Given the description of an element on the screen output the (x, y) to click on. 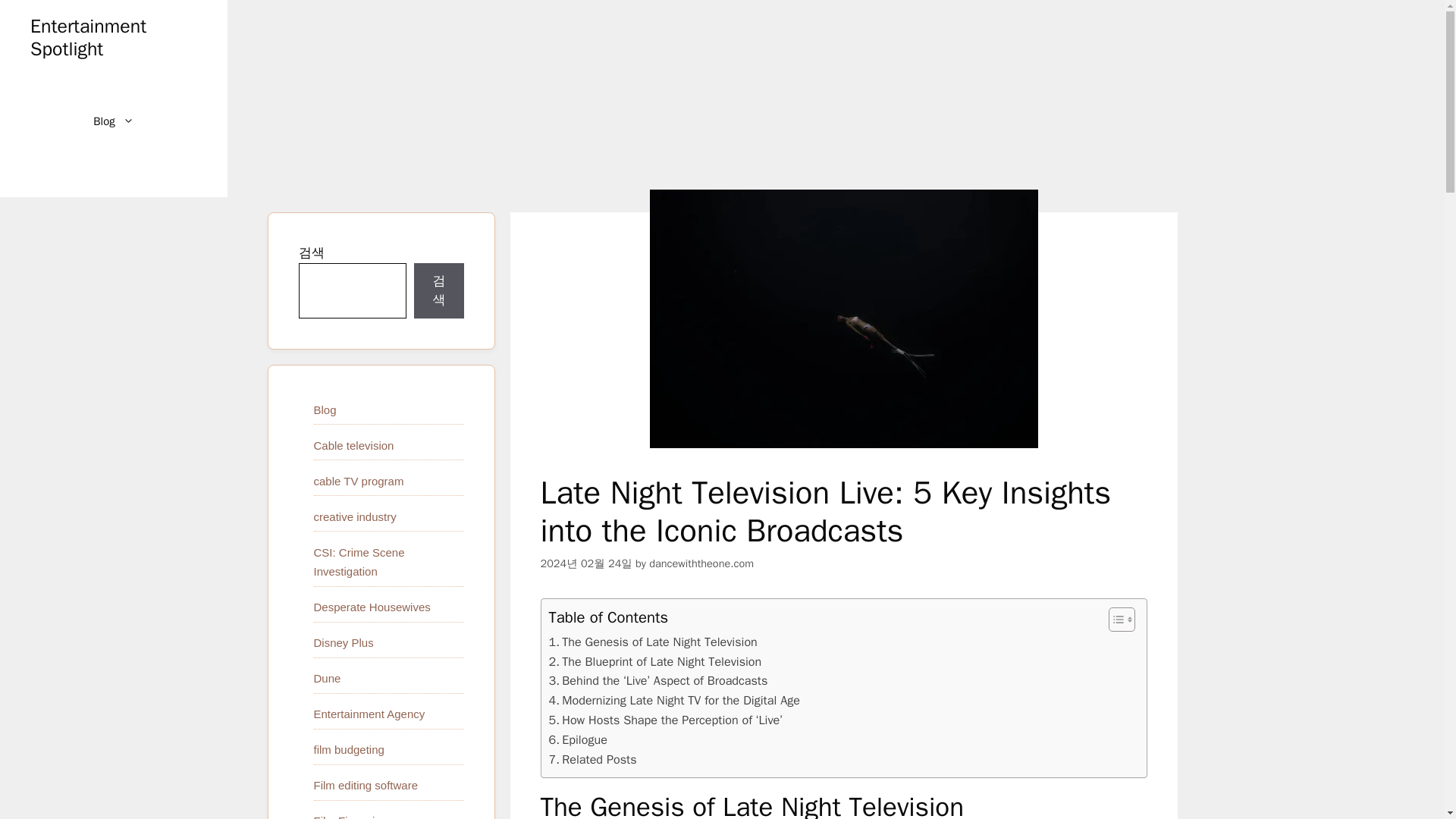
View all posts by dancewiththeone.com (701, 563)
CSI: Crime Scene Investigation (359, 562)
Epilogue (577, 740)
dancewiththeone.com (701, 563)
Modernizing Late Night TV for the Digital Age (673, 700)
Epilogue (577, 740)
cable TV program (359, 481)
Modernizing Late Night TV for the Digital Age (673, 700)
Blog (325, 409)
The Genesis of Late Night Television (652, 641)
